Given the description of an element on the screen output the (x, y) to click on. 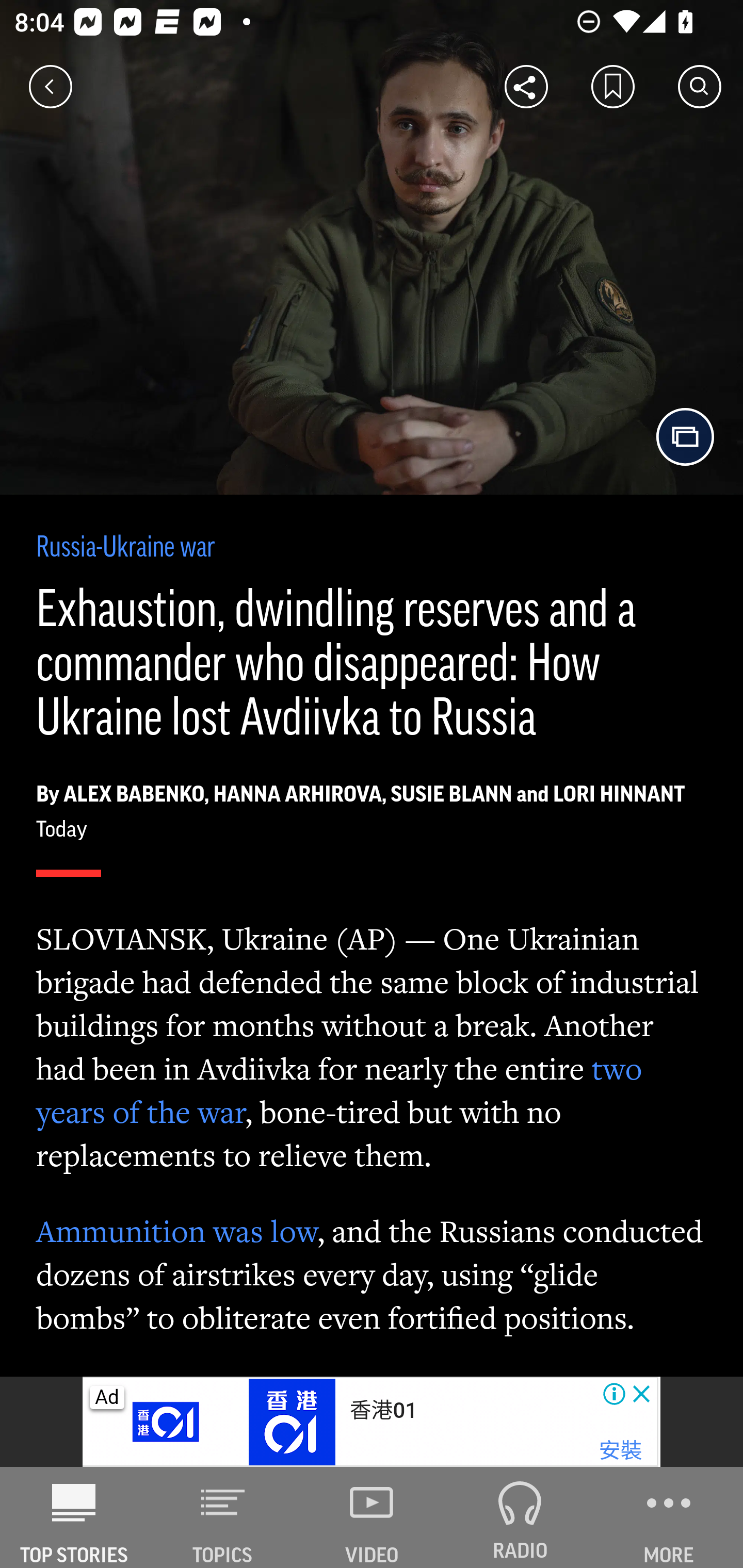
Russia-Ukraine war (126, 548)
two years of the war (339, 1090)
Ammunition was low (177, 1230)
B30001746 (168, 1421)
香港01 (382, 1410)
安裝 (620, 1450)
AP News TOP STORIES (74, 1517)
TOPICS (222, 1517)
VIDEO (371, 1517)
RADIO (519, 1517)
MORE (668, 1517)
